Given the description of an element on the screen output the (x, y) to click on. 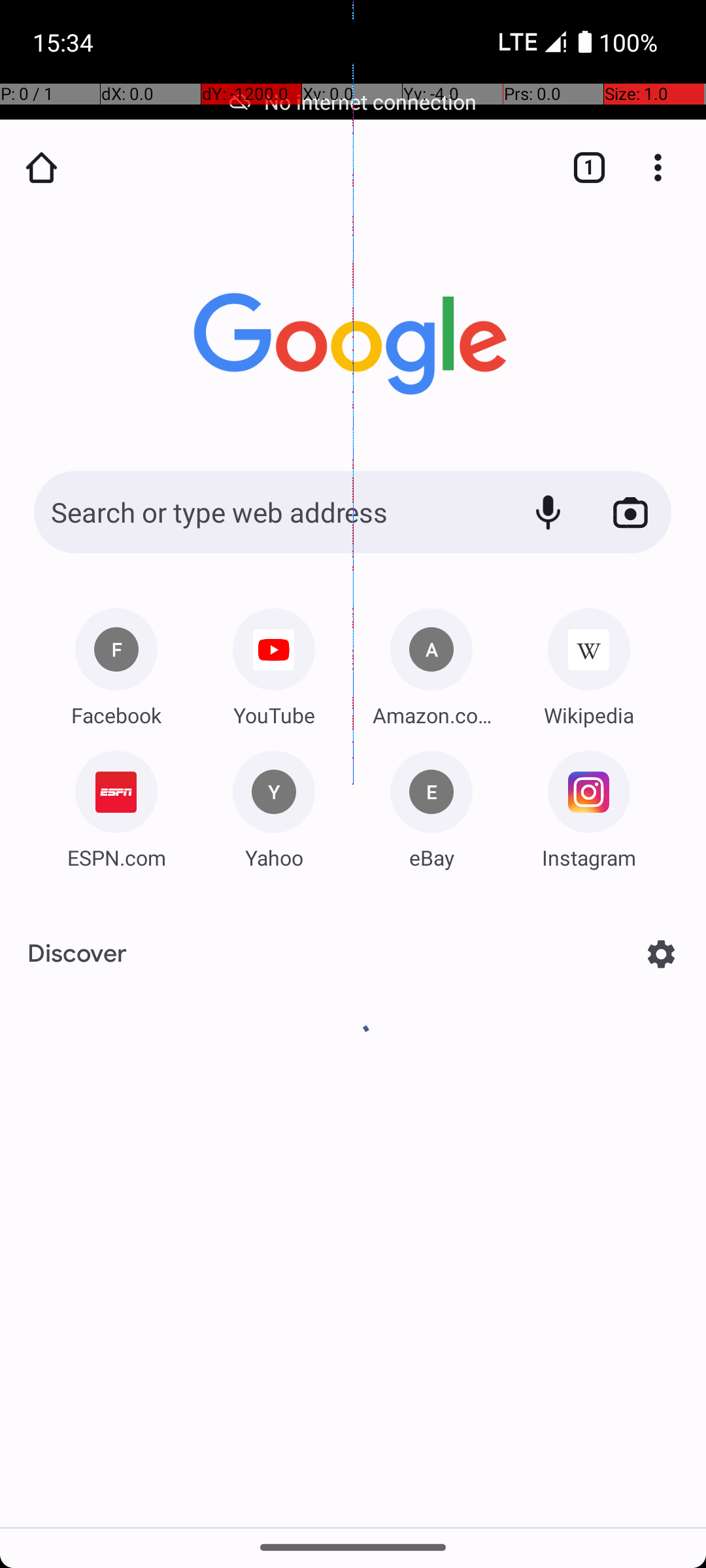
Search with your camera using Google Lens Element type: android.widget.ImageView (629, 512)
Navigate: Facebook: m.facebook.com Element type: android.widget.FrameLayout (115, 662)
Navigate: YouTube: m.youtube.com Element type: android.widget.FrameLayout (273, 662)
Navigate: Amazon.com: www.amazon.com Element type: android.widget.FrameLayout (431, 662)
Navigate: Wikipedia: en.m.wikipedia.org Element type: android.widget.FrameLayout (588, 662)
Navigate: ESPN.com: www.espn.com Element type: android.widget.FrameLayout (115, 804)
Navigate: Yahoo: www.yahoo.com Element type: android.widget.FrameLayout (273, 804)
Navigate: eBay: m.ebay.com Element type: android.widget.FrameLayout (431, 804)
Navigate: Instagram: www.instagram.com Element type: android.widget.FrameLayout (588, 804)
Options for Discover Element type: android.widget.ImageButton (660, 953)
Amazon.com Element type: android.widget.TextView (430, 715)
ESPN.com Element type: android.widget.TextView (115, 857)
eBay Element type: android.widget.TextView (430, 857)
Instagram Element type: android.widget.TextView (588, 857)
